Given the description of an element on the screen output the (x, y) to click on. 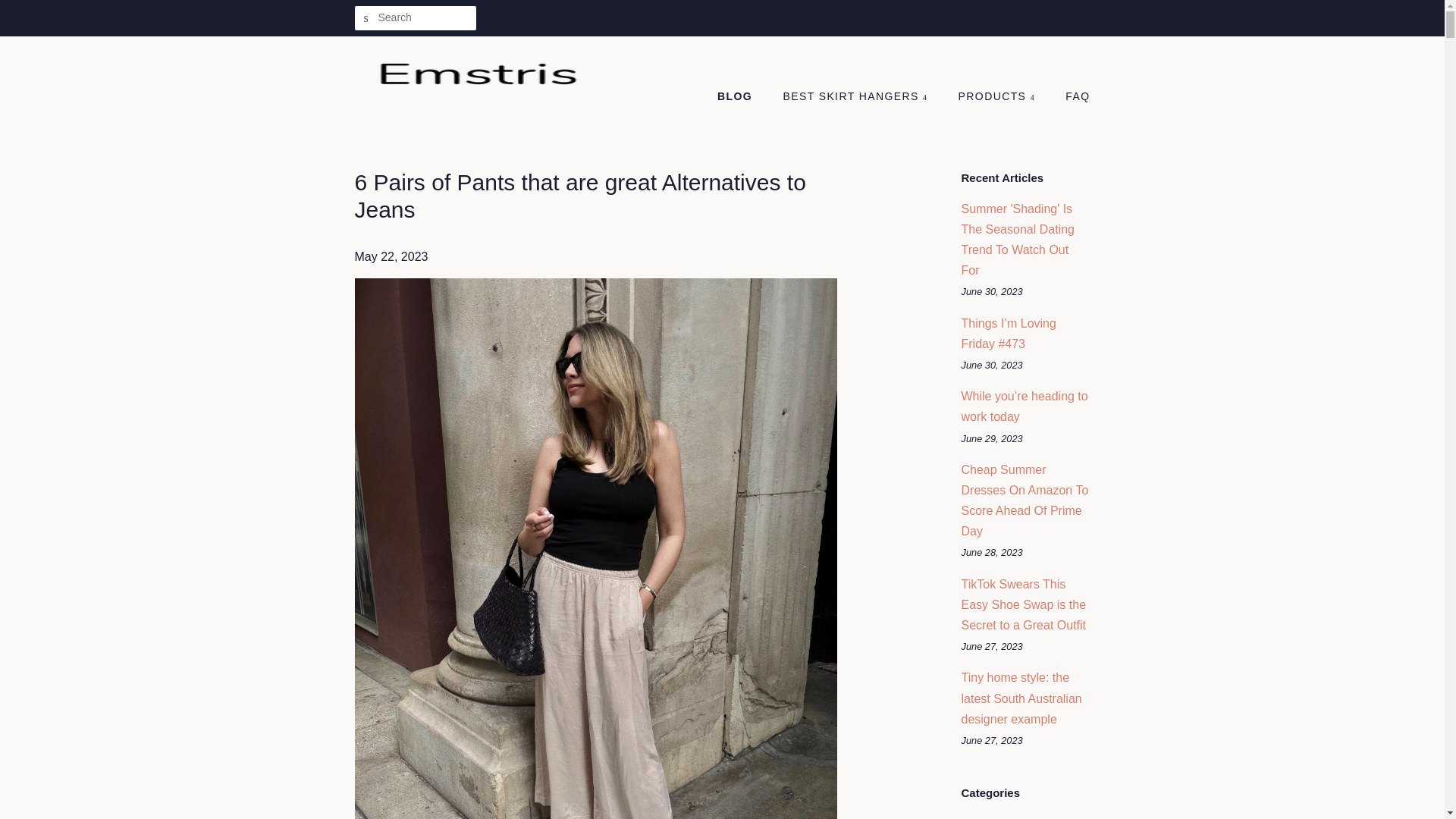
BEST SKIRT HANGERS (856, 96)
Show articles tagged 019 (970, 818)
PRODUCTS (998, 96)
SEARCH (366, 18)
FAQ (1071, 96)
BLOG (742, 96)
